Given the description of an element on the screen output the (x, y) to click on. 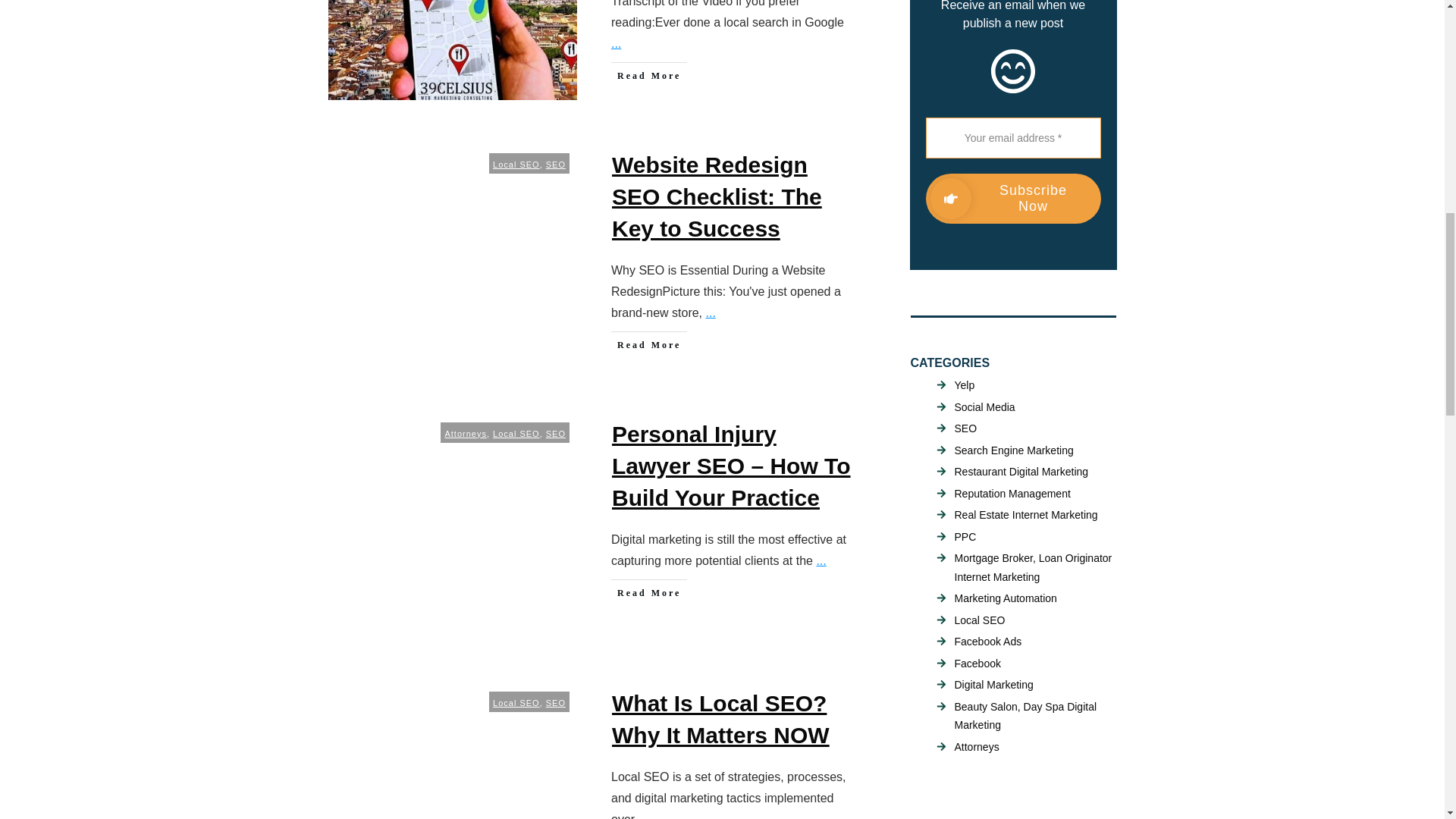
SEO (556, 702)
Attorneys (465, 433)
SEO (556, 433)
Local SEO (516, 163)
SEO (556, 163)
... (820, 560)
What Is Local SEO? Why It Matters NOW (720, 719)
Local SEO (516, 163)
SEO (556, 433)
... (711, 312)
Website Redesign SEO Checklist: The Key to Success (716, 196)
Local SEO (516, 433)
Attorneys (465, 433)
Read More (649, 344)
Local SEO (516, 702)
